Given the description of an element on the screen output the (x, y) to click on. 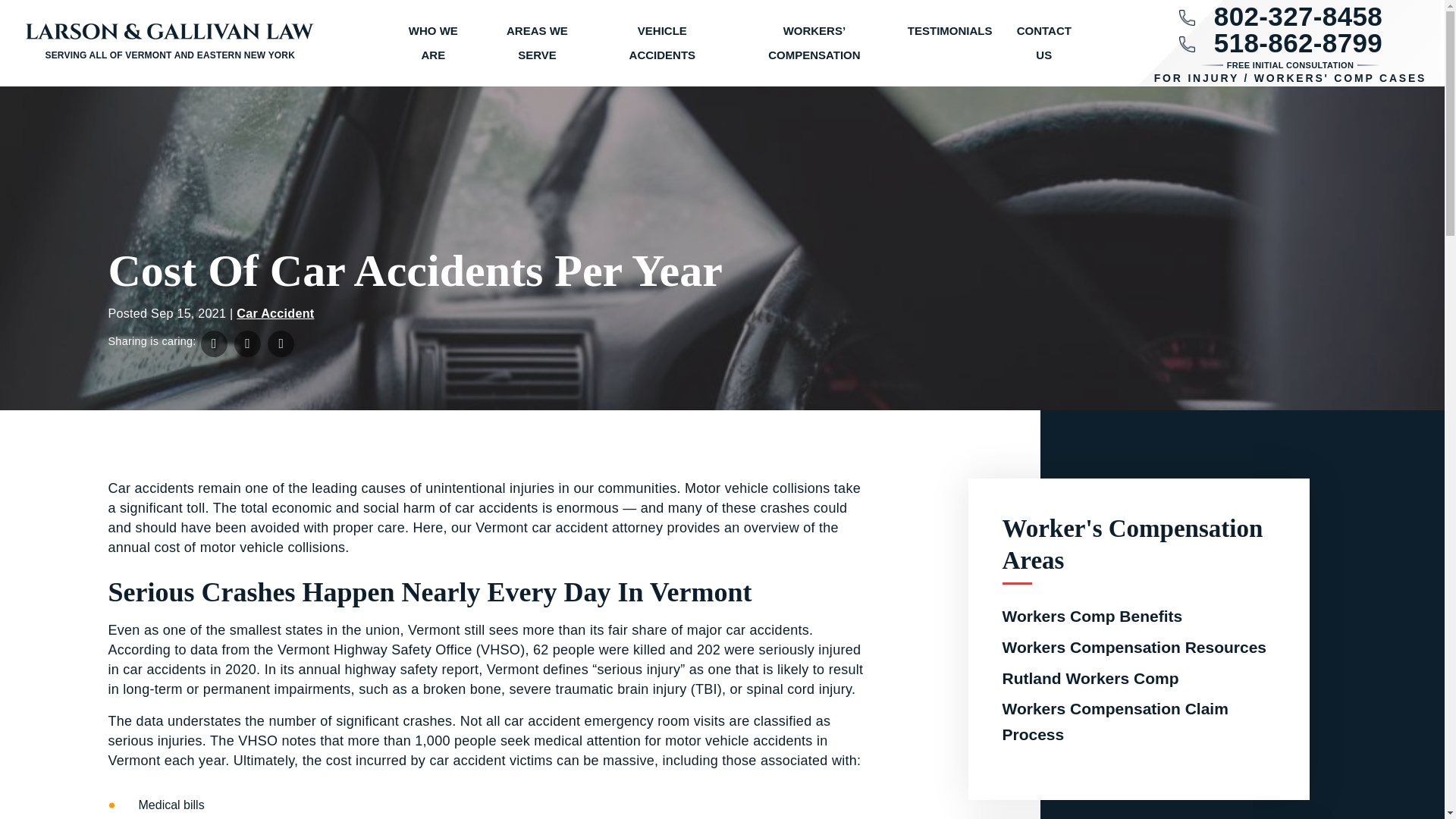
WHO WE ARE (433, 43)
Share on Twitter (247, 343)
Share on LinkedIn (280, 343)
Share on Facebook (213, 343)
AREAS WE SERVE (537, 43)
